Given the description of an element on the screen output the (x, y) to click on. 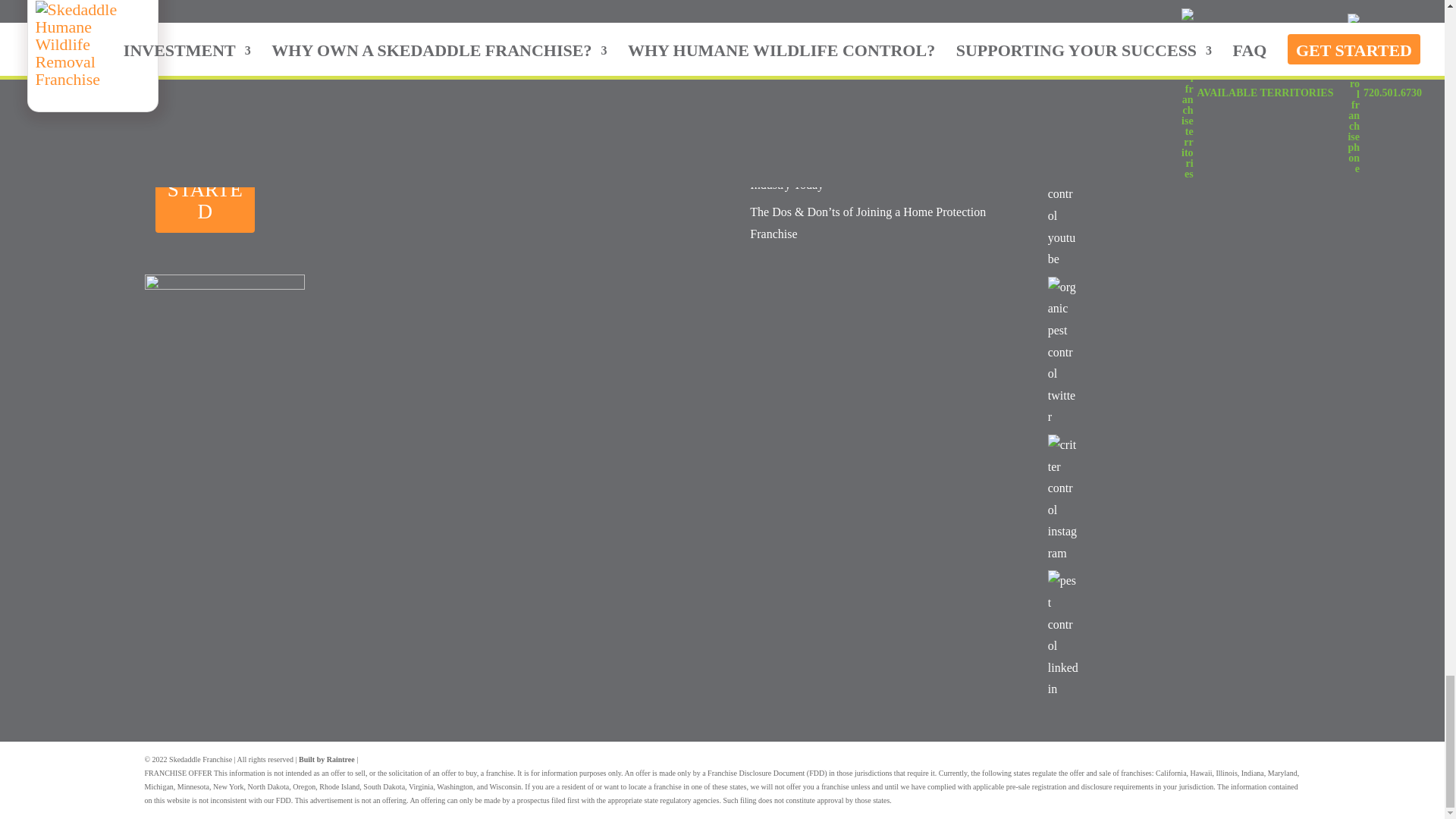
Is My Territory Available? (516, 124)
What Makes Skedaddle Different? (536, 153)
FAQ (165, 124)
How Much Does It Cost? (514, 69)
How Much Can I Make? (512, 42)
Why Humane Wildlife Control? (232, 69)
GET STARTED (232, 187)
Why Skedaddle Franchise? (220, 42)
How Do I Qualify? (499, 97)
Blog (464, 14)
